Given the description of an element on the screen output the (x, y) to click on. 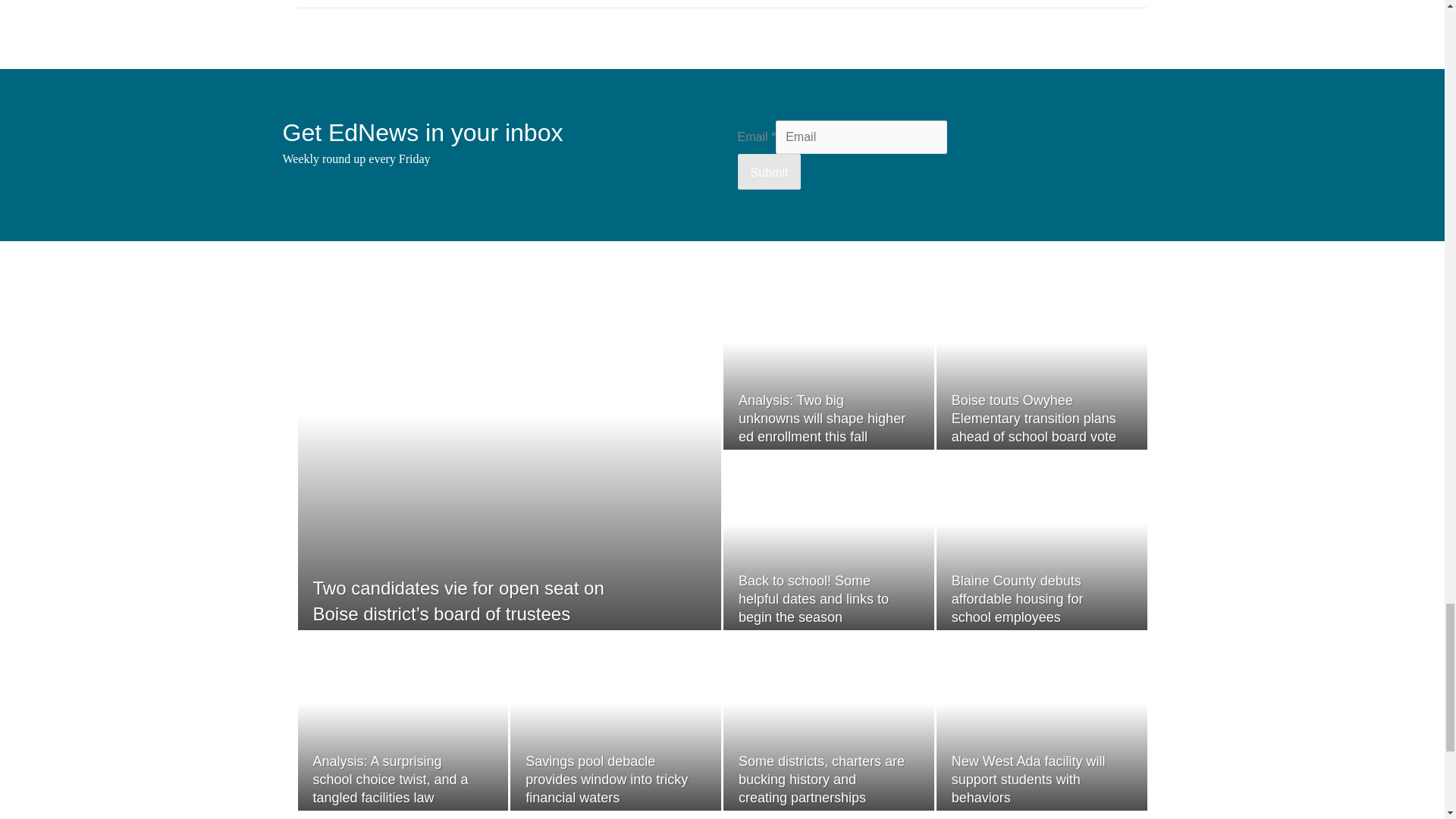
Blaine County debuts affordable housing for school employees (1017, 598)
